Given the description of an element on the screen output the (x, y) to click on. 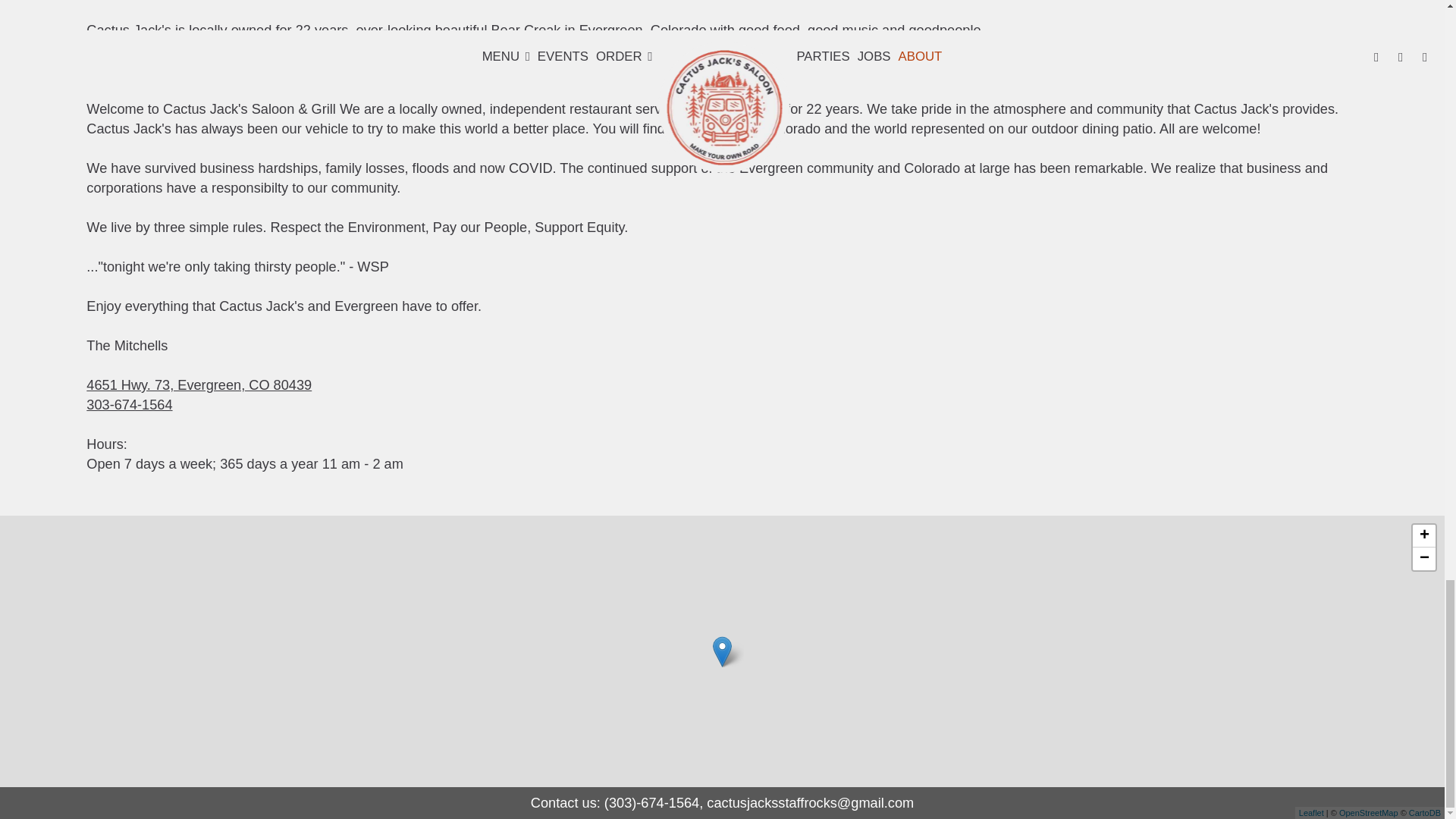
4651 Hwy. 73, Evergreen, CO 80439 (198, 385)
CartoDB (1425, 811)
303-674-1564 (128, 404)
Leaflet (1310, 811)
Zoom out (1423, 558)
Zoom in (1423, 535)
OpenStreetMap (1368, 811)
A JS library for interactive maps (1310, 811)
